Given the description of an element on the screen output the (x, y) to click on. 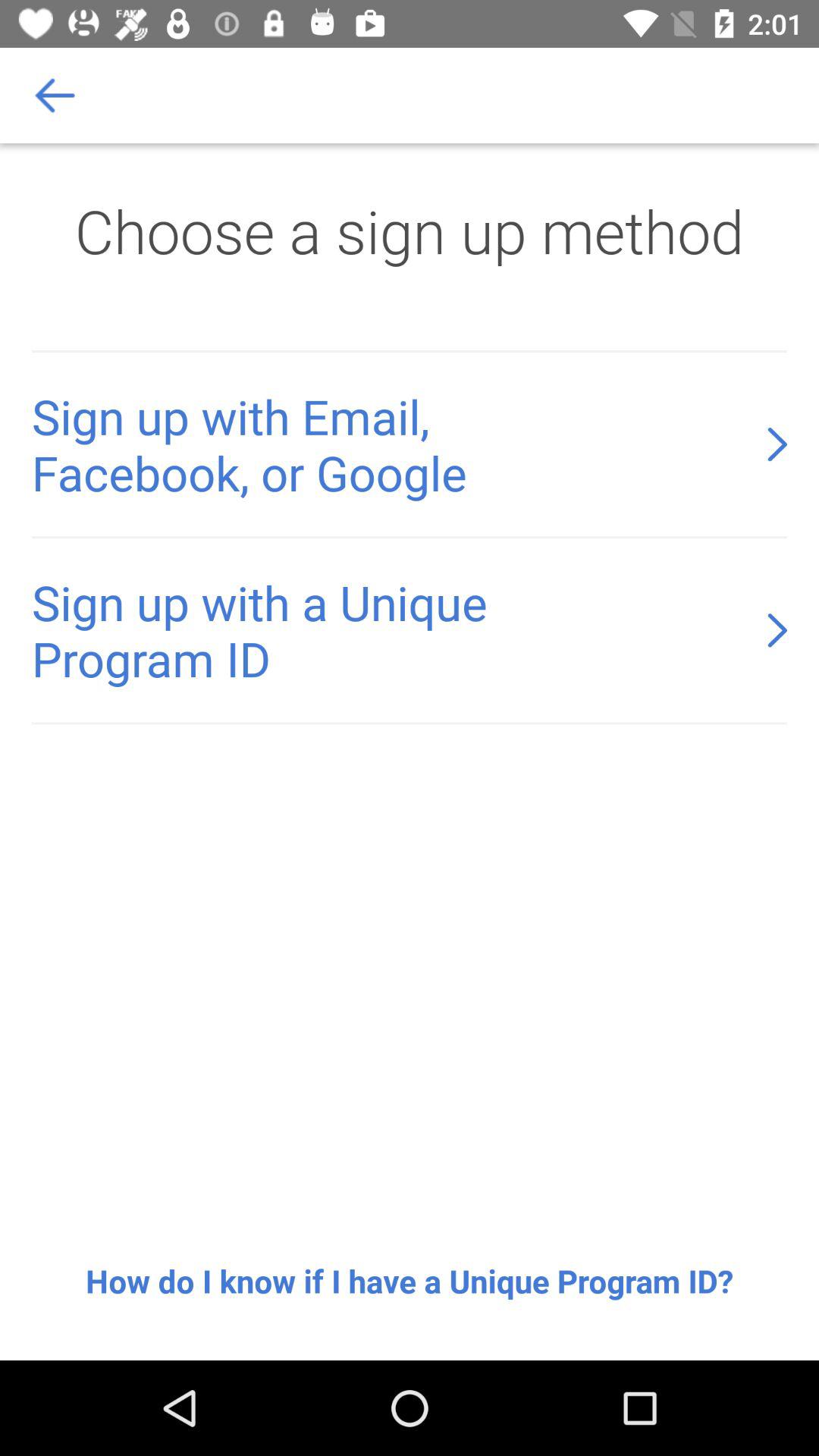
swipe until the how do i icon (409, 1280)
